Given the description of an element on the screen output the (x, y) to click on. 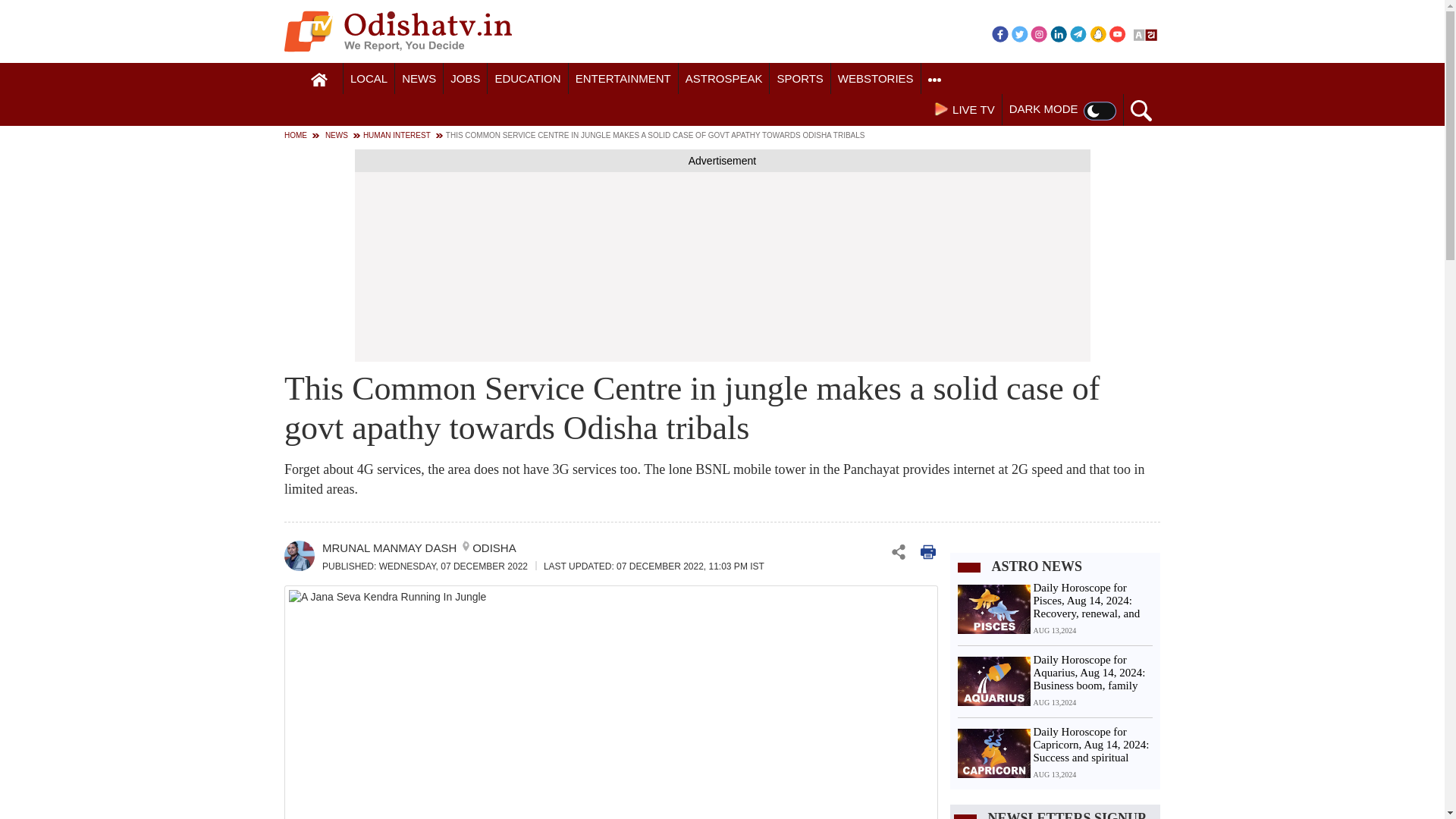
Facebook (1000, 33)
Instagram (1038, 33)
LOCAL (368, 78)
Home Icon (319, 79)
News (418, 78)
ENTERTAINMENT (623, 78)
NEWS (418, 78)
Odisha (368, 78)
OdishaTV (397, 31)
Telegram (1078, 33)
